Given the description of an element on the screen output the (x, y) to click on. 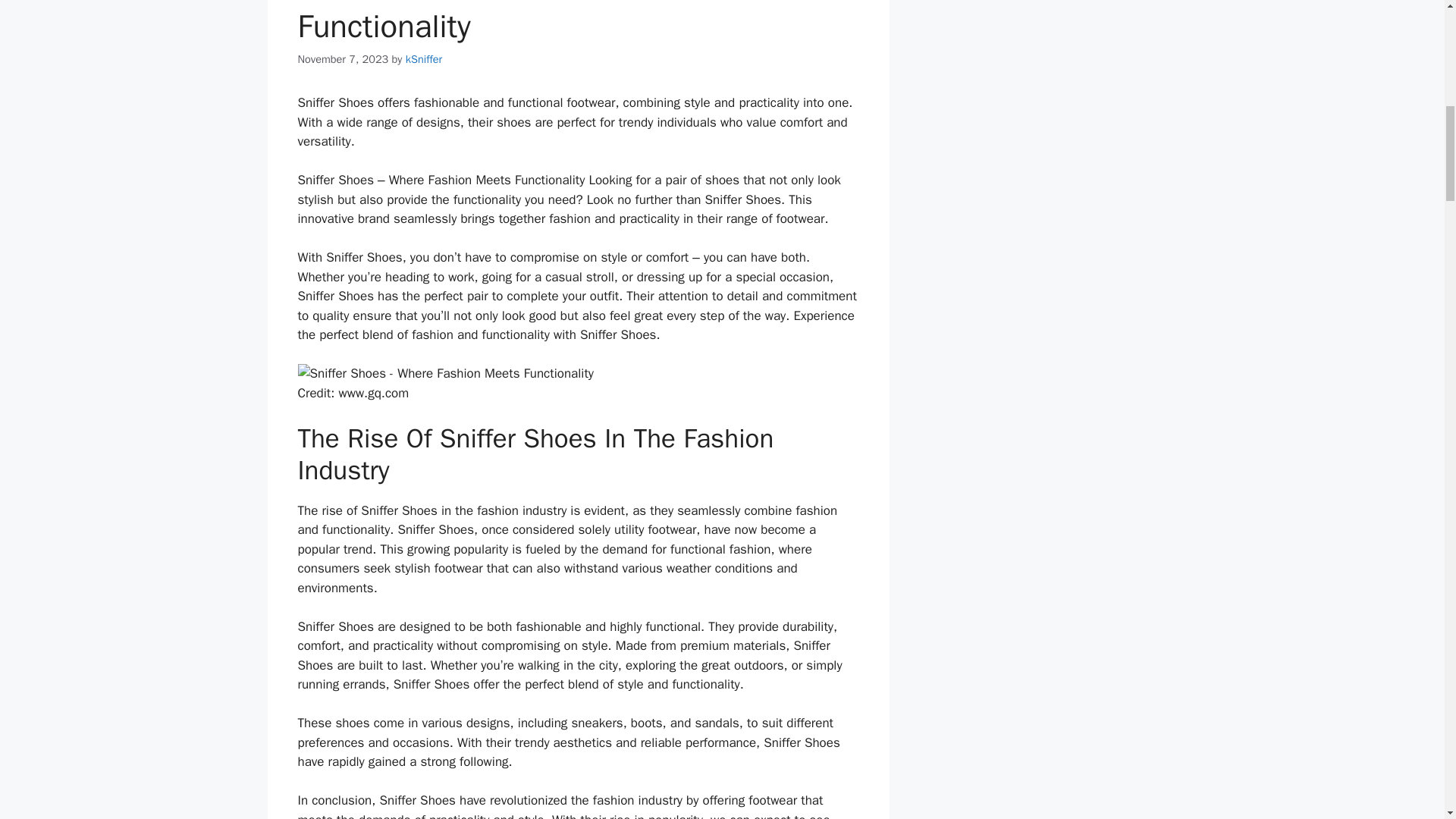
View all posts by kSniffer (424, 59)
kSniffer (424, 59)
